Given the description of an element on the screen output the (x, y) to click on. 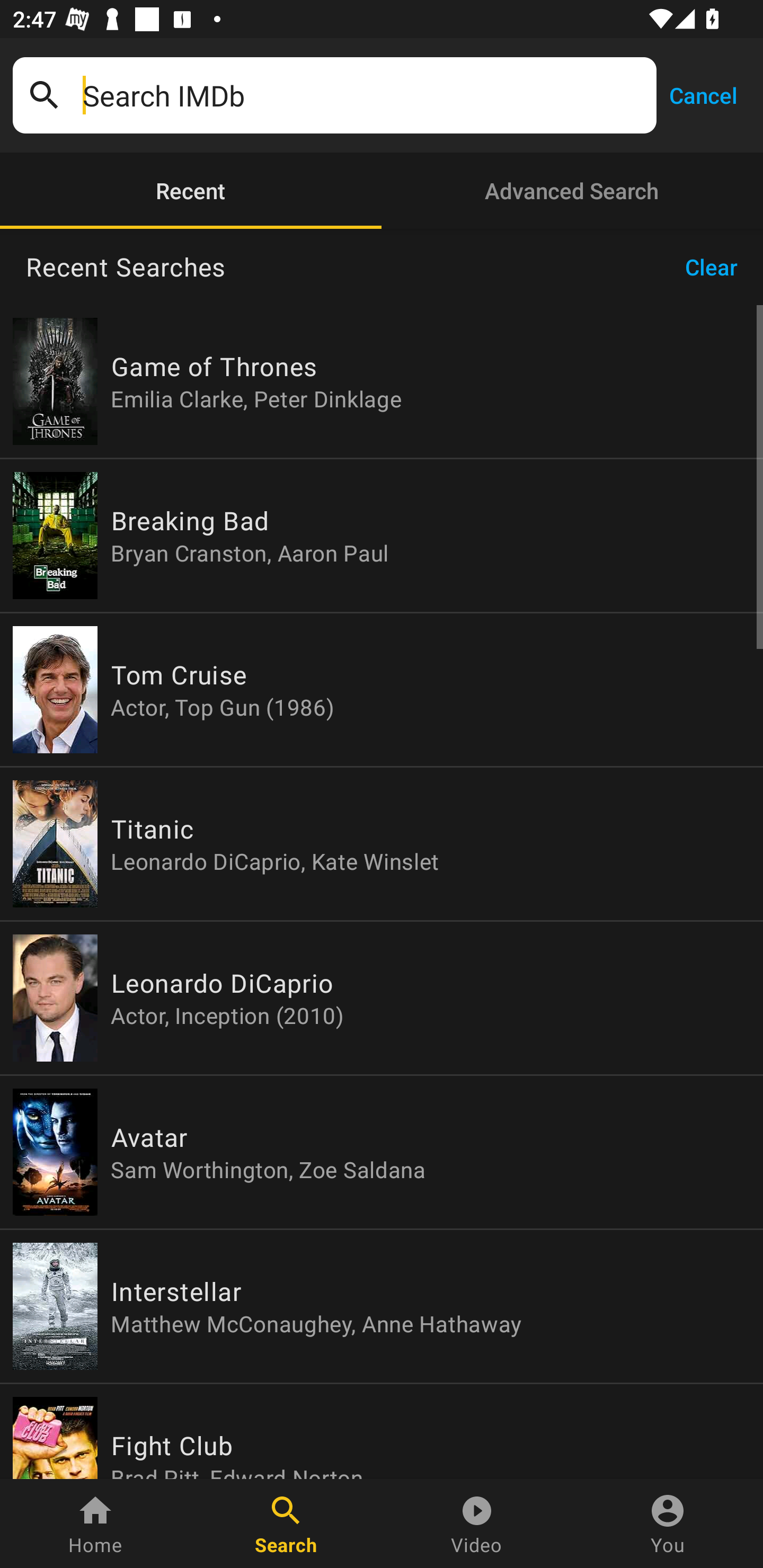
Cancel (703, 94)
Search IMDb (363, 95)
Advanced Search (572, 190)
Clear (717, 266)
Game of Thrones Emilia Clarke, Peter Dinklage (381, 381)
Breaking Bad Bryan Cranston, Aaron Paul (381, 535)
Tom Cruise Actor, Top Gun (1986) (381, 689)
Titanic Leonardo DiCaprio, Kate Winslet (381, 844)
Leonardo DiCaprio Actor, Inception (2010) (381, 997)
Avatar Sam Worthington, Zoe Saldana (381, 1151)
Interstellar Matthew McConaughey, Anne Hathaway (381, 1305)
Fight Club Brad Pitt, Edward Norton (381, 1431)
Home (95, 1523)
Video (476, 1523)
You (667, 1523)
